Given the description of an element on the screen output the (x, y) to click on. 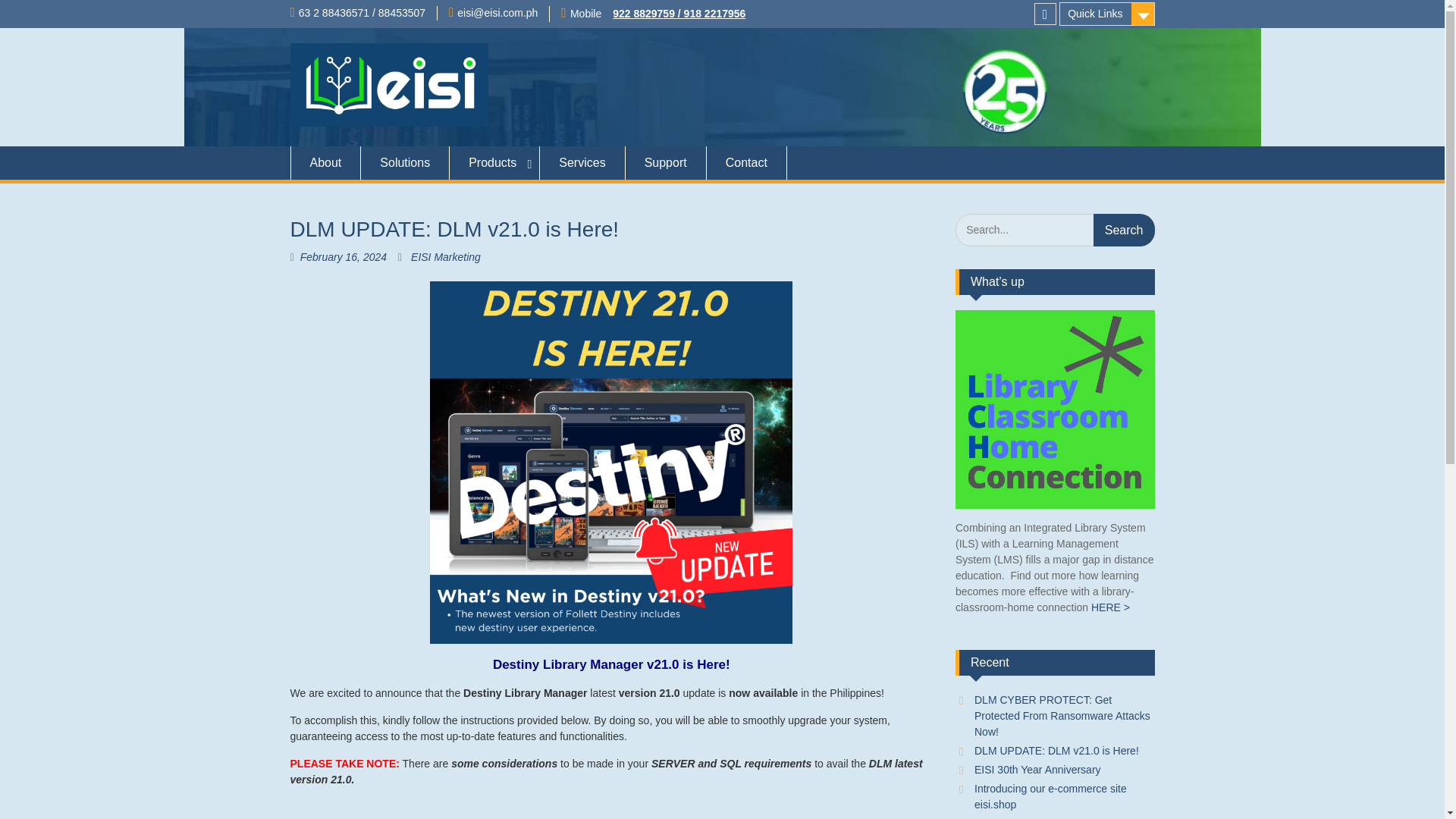
Search for: (1054, 229)
Quick Links (1106, 13)
Search (1123, 229)
Solutions (405, 162)
February 16, 2024 (343, 256)
Contact (746, 162)
Search (1123, 229)
Products (494, 162)
About (325, 162)
EISI Marketing (445, 256)
Facebook (1045, 14)
Services (582, 162)
Support (666, 162)
